Given the description of an element on the screen output the (x, y) to click on. 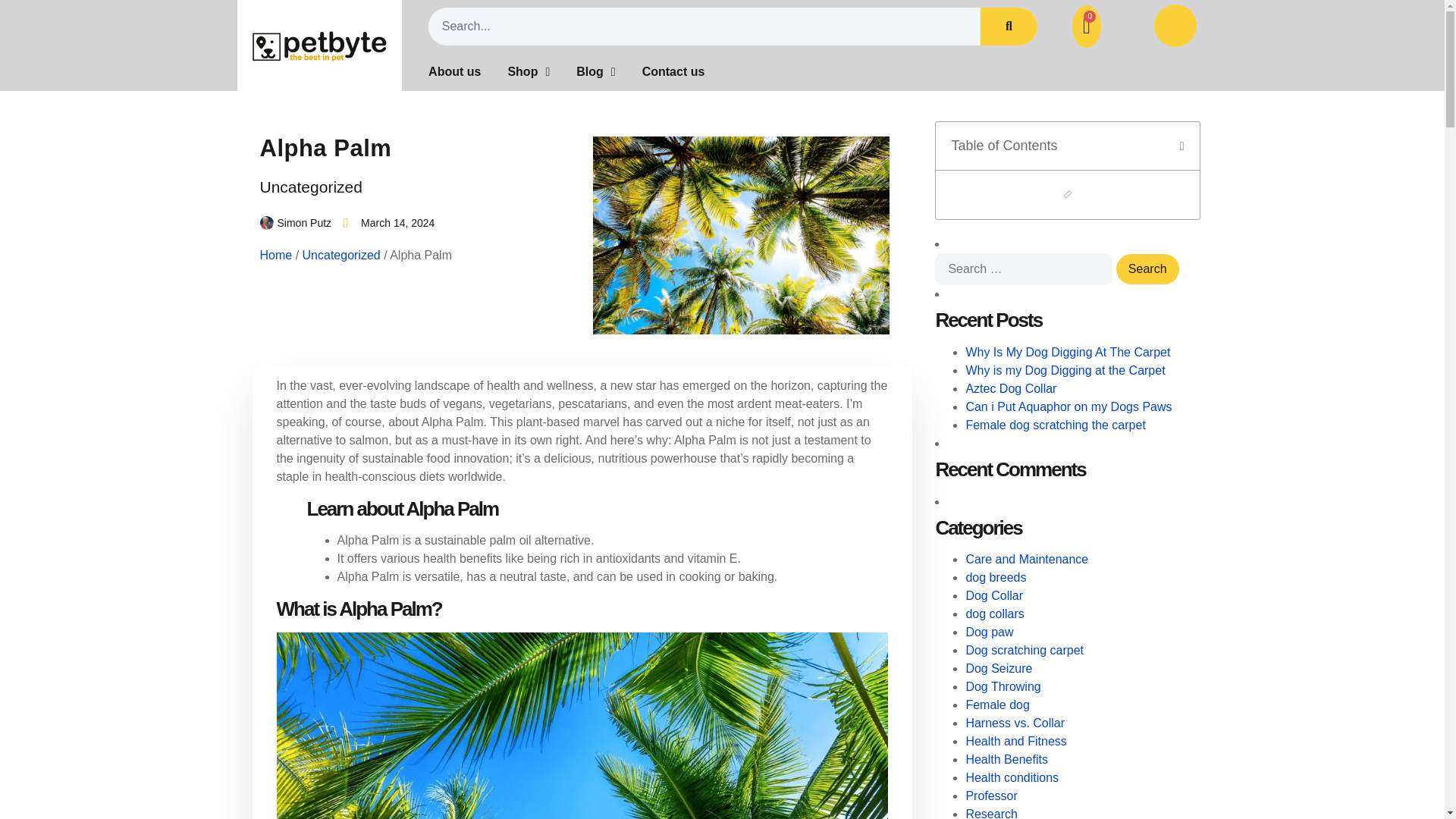
Shop (528, 71)
Simon Putz (295, 221)
Blog (595, 71)
Uncategorized (310, 186)
Home (275, 254)
Search (1147, 268)
Contact us (673, 71)
Uncategorized (341, 254)
About us (454, 71)
Search (1147, 268)
